Given the description of an element on the screen output the (x, y) to click on. 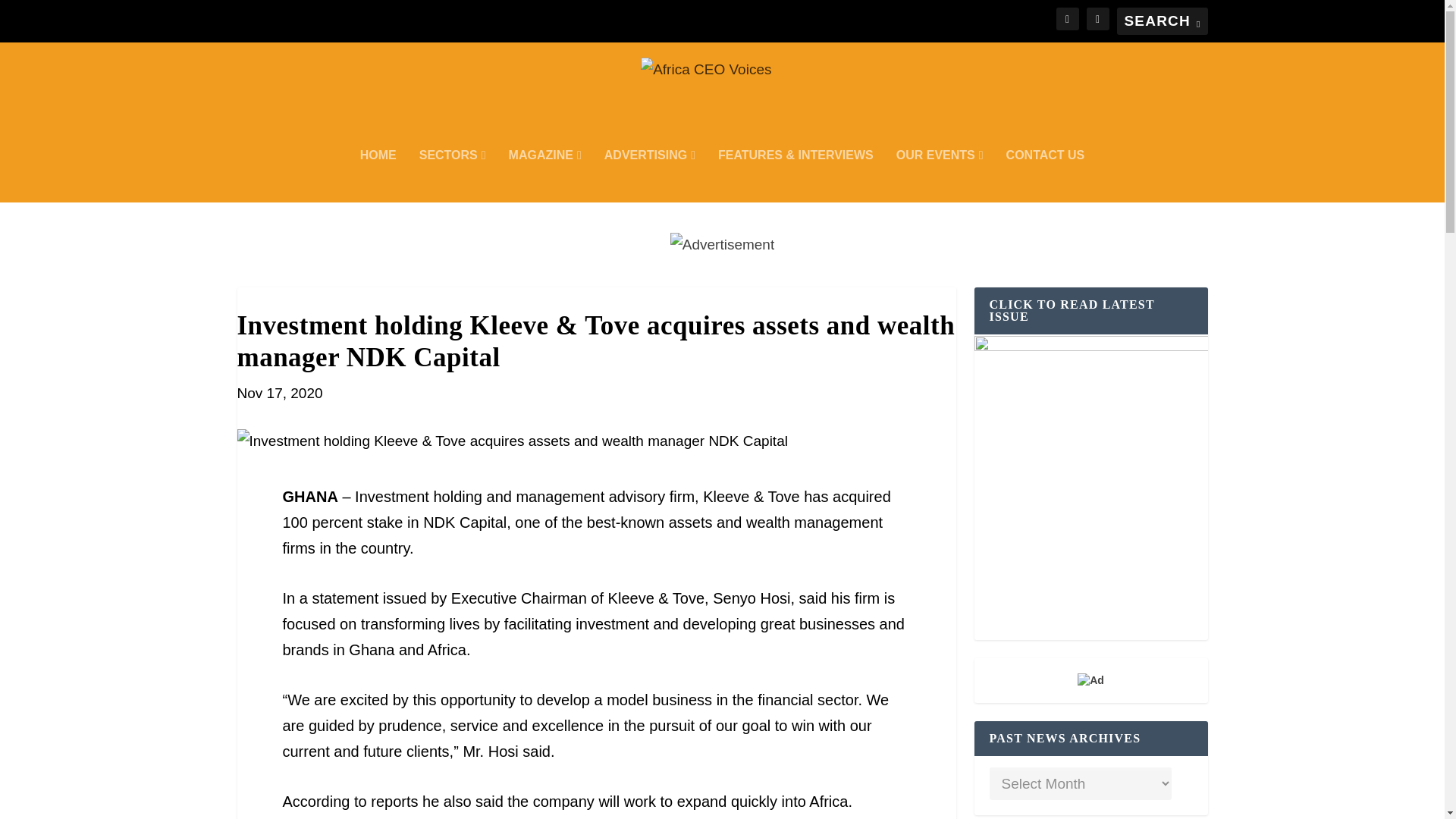
Search for: (1161, 21)
ADVERTISING (649, 175)
CONTACT US (1045, 175)
SECTORS (452, 175)
OUR EVENTS (940, 175)
MAGAZINE (544, 175)
